Given the description of an element on the screen output the (x, y) to click on. 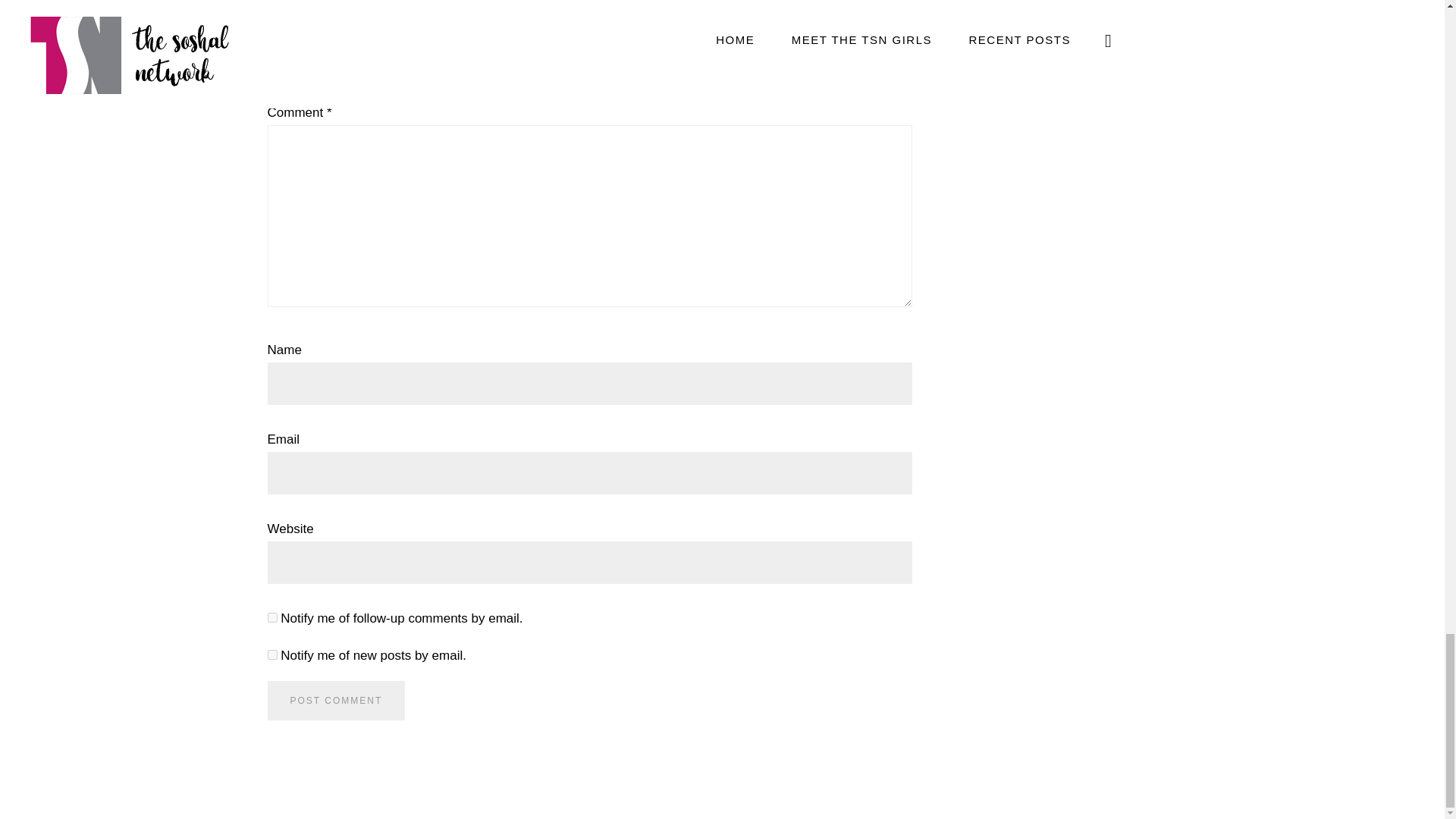
subscribe (271, 655)
Post Comment (335, 700)
Post Comment (335, 700)
subscribe (271, 617)
